Given the description of an element on the screen output the (x, y) to click on. 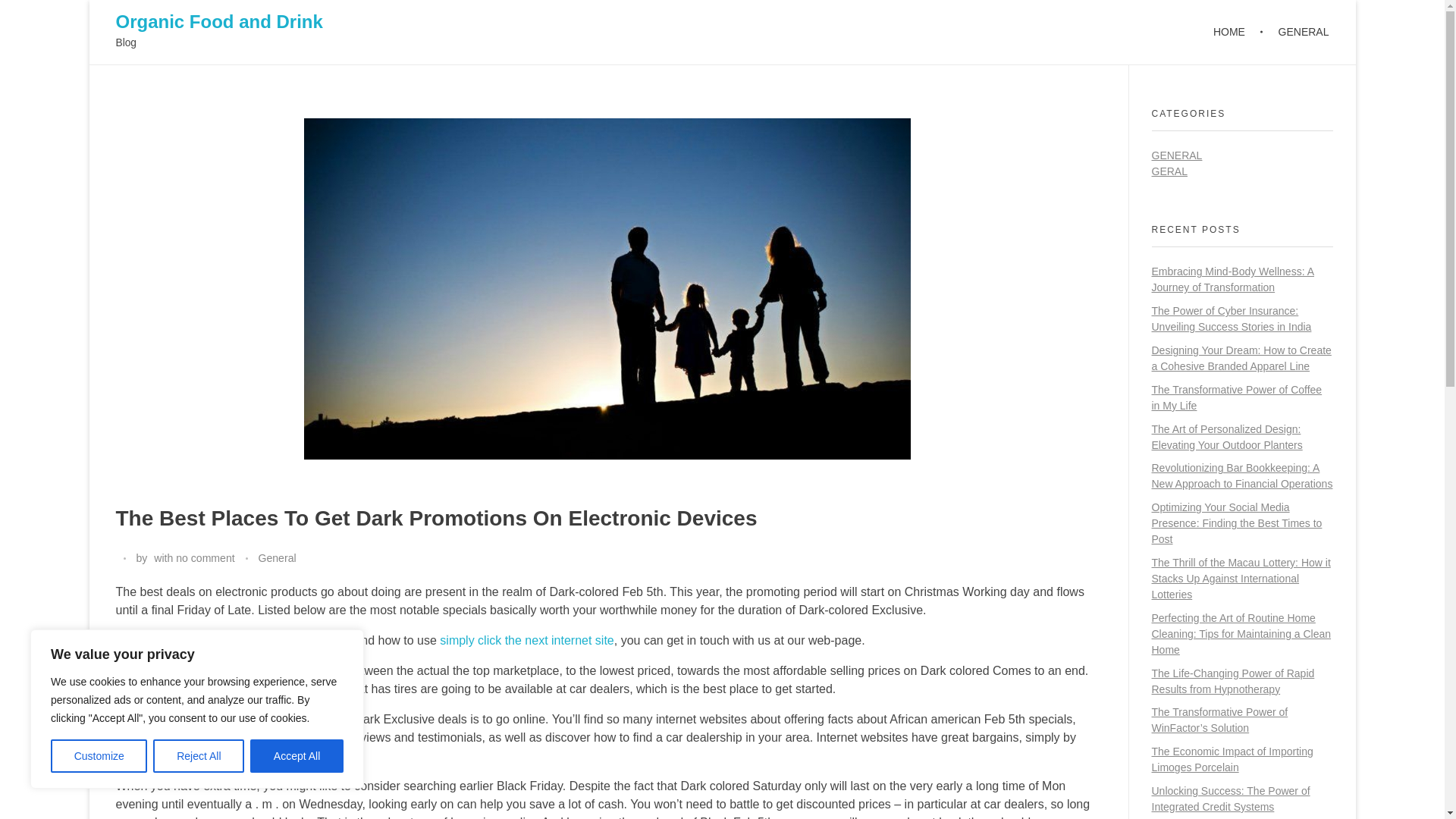
Organic Food and Drink (218, 21)
GENERAL (1176, 155)
Customize (98, 756)
simply click the next internet site (525, 640)
Organic Food and Drink (218, 21)
GERAL (1168, 171)
GENERAL (1295, 32)
View all posts in General (276, 558)
